Given the description of an element on the screen output the (x, y) to click on. 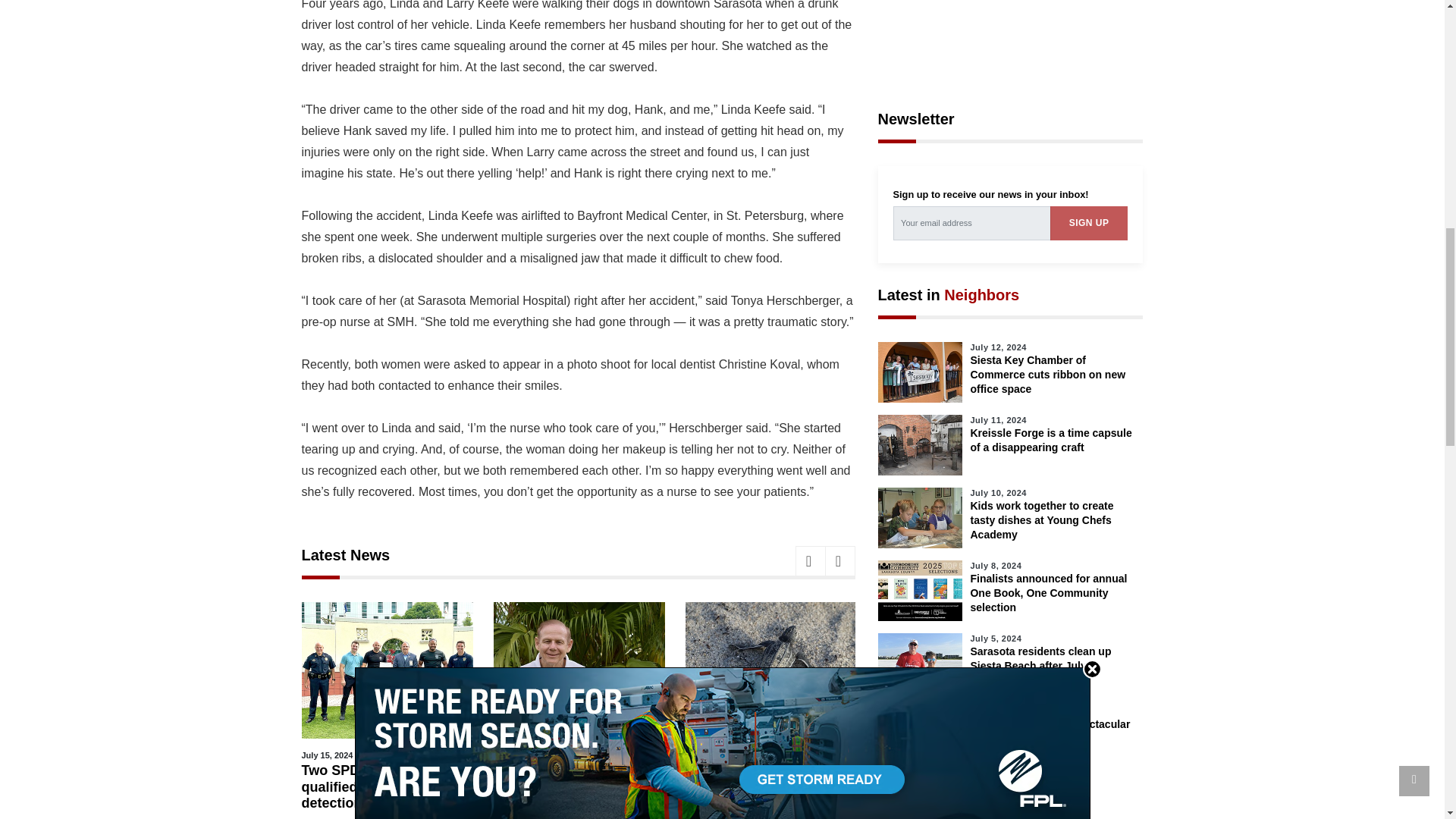
3rd party ad content (1010, 38)
3rd party ad content (1010, 809)
